Given the description of an element on the screen output the (x, y) to click on. 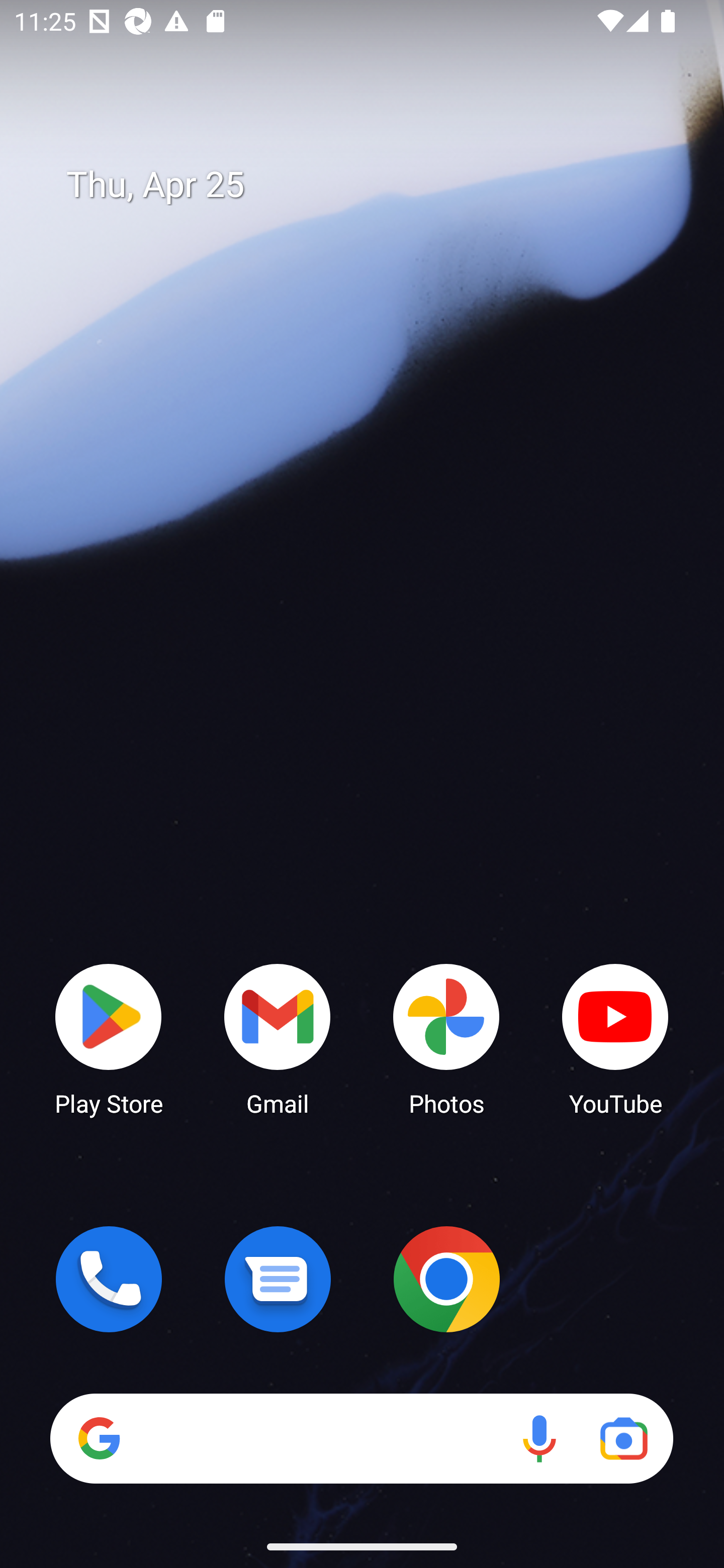
Thu, Apr 25 (375, 184)
Play Store (108, 1038)
Gmail (277, 1038)
Photos (445, 1038)
YouTube (615, 1038)
Phone (108, 1279)
Messages (277, 1279)
Chrome (446, 1279)
Search Voice search Google Lens (361, 1438)
Voice search (539, 1438)
Google Lens (623, 1438)
